Given the description of an element on the screen output the (x, y) to click on. 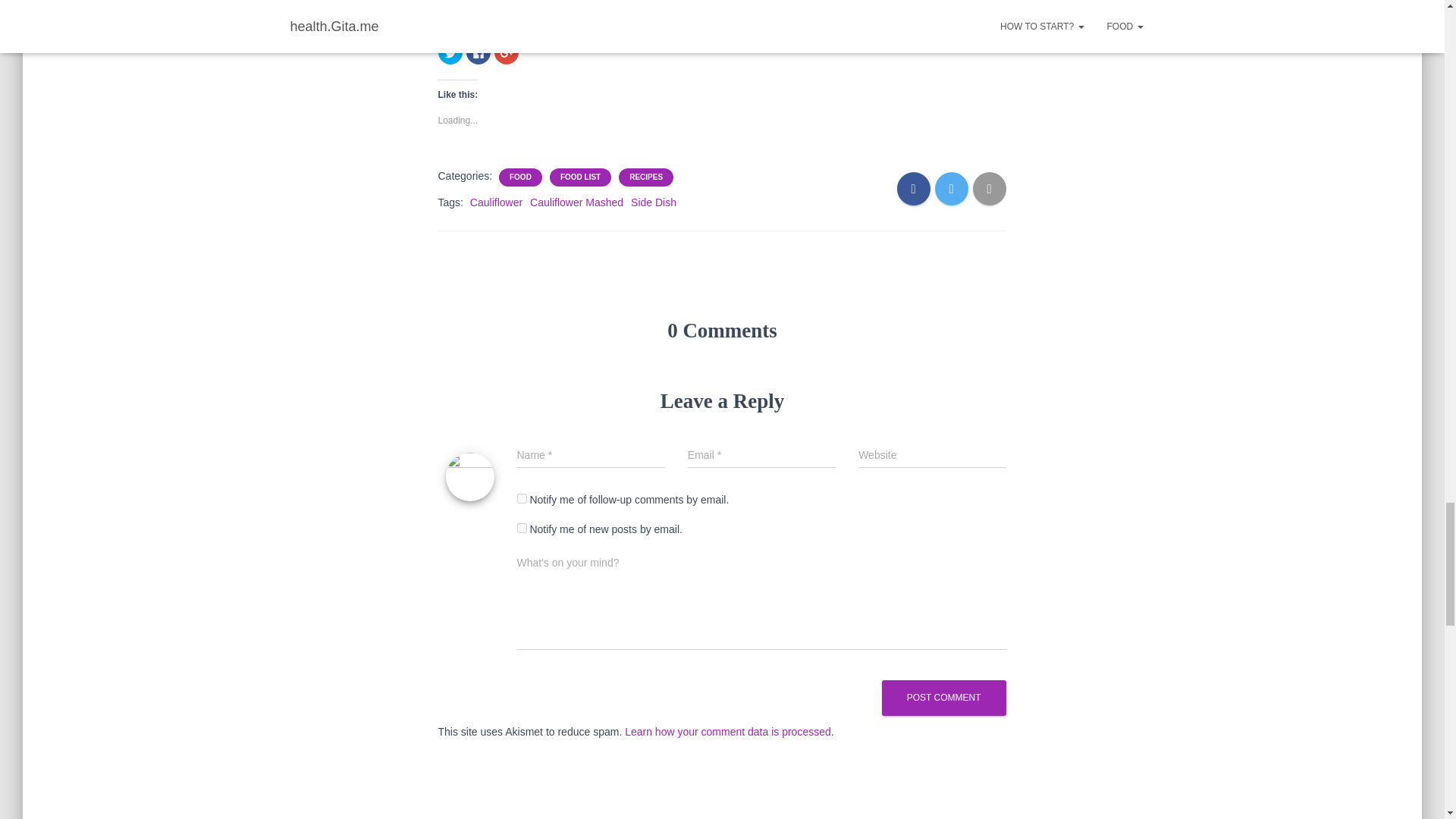
Post Comment (944, 697)
Click to share on Twitter (450, 52)
FOOD (520, 176)
subscribe (521, 498)
Learn how your comment data is processed (727, 731)
Side Dish (653, 202)
Cauliflower Mashed (576, 202)
RECIPES (645, 176)
Cauliflower (496, 202)
Post Comment (944, 697)
